Given the description of an element on the screen output the (x, y) to click on. 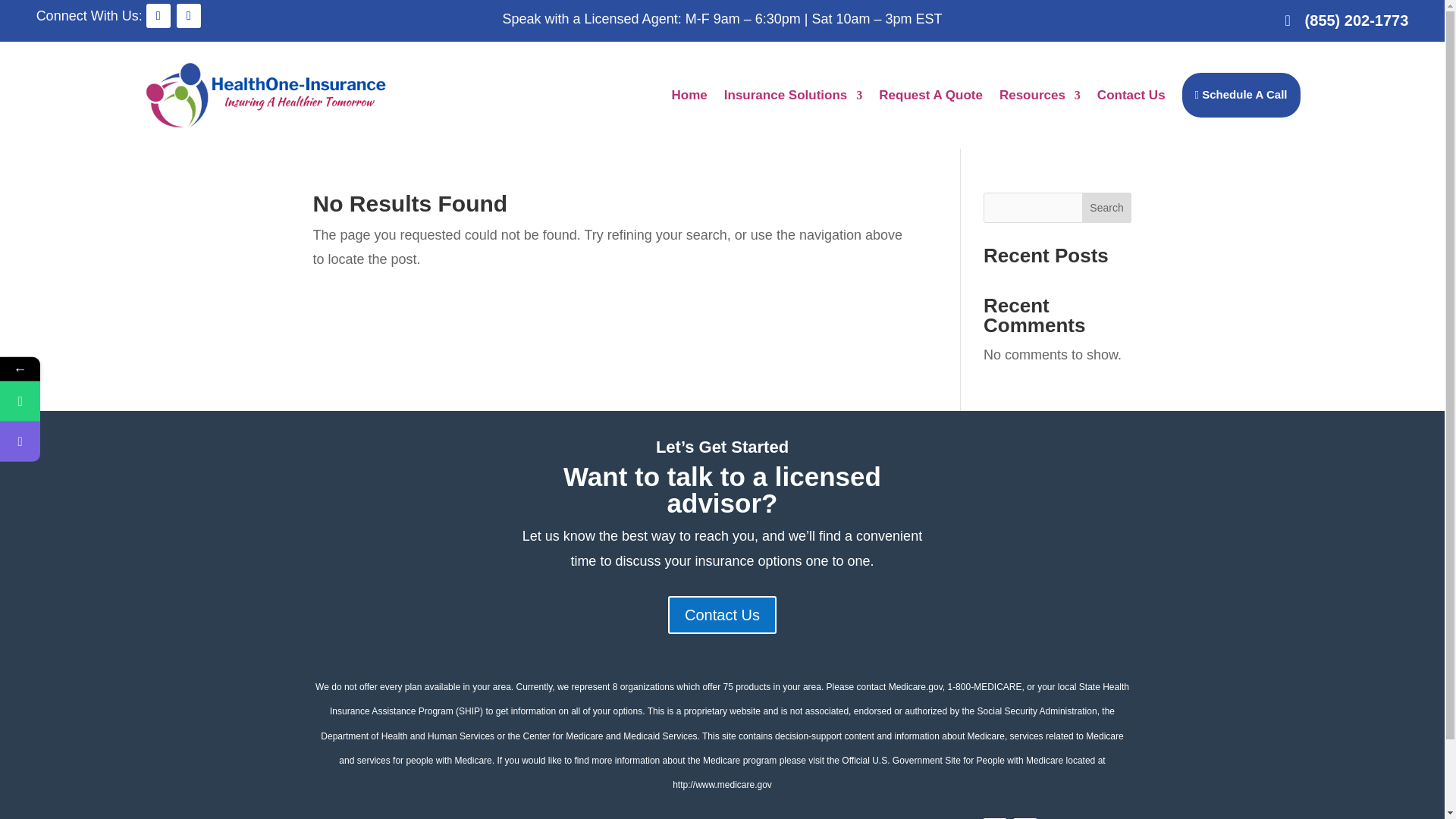
Follow on Facebook (158, 15)
Phone (92, 401)
Phone (92, 401)
Search (1106, 207)
Schedule A Call (20, 441)
Schedule A Call (92, 441)
Schedule A Call (1241, 94)
Schedule A Call (92, 441)
Phone (20, 401)
